Given the description of an element on the screen output the (x, y) to click on. 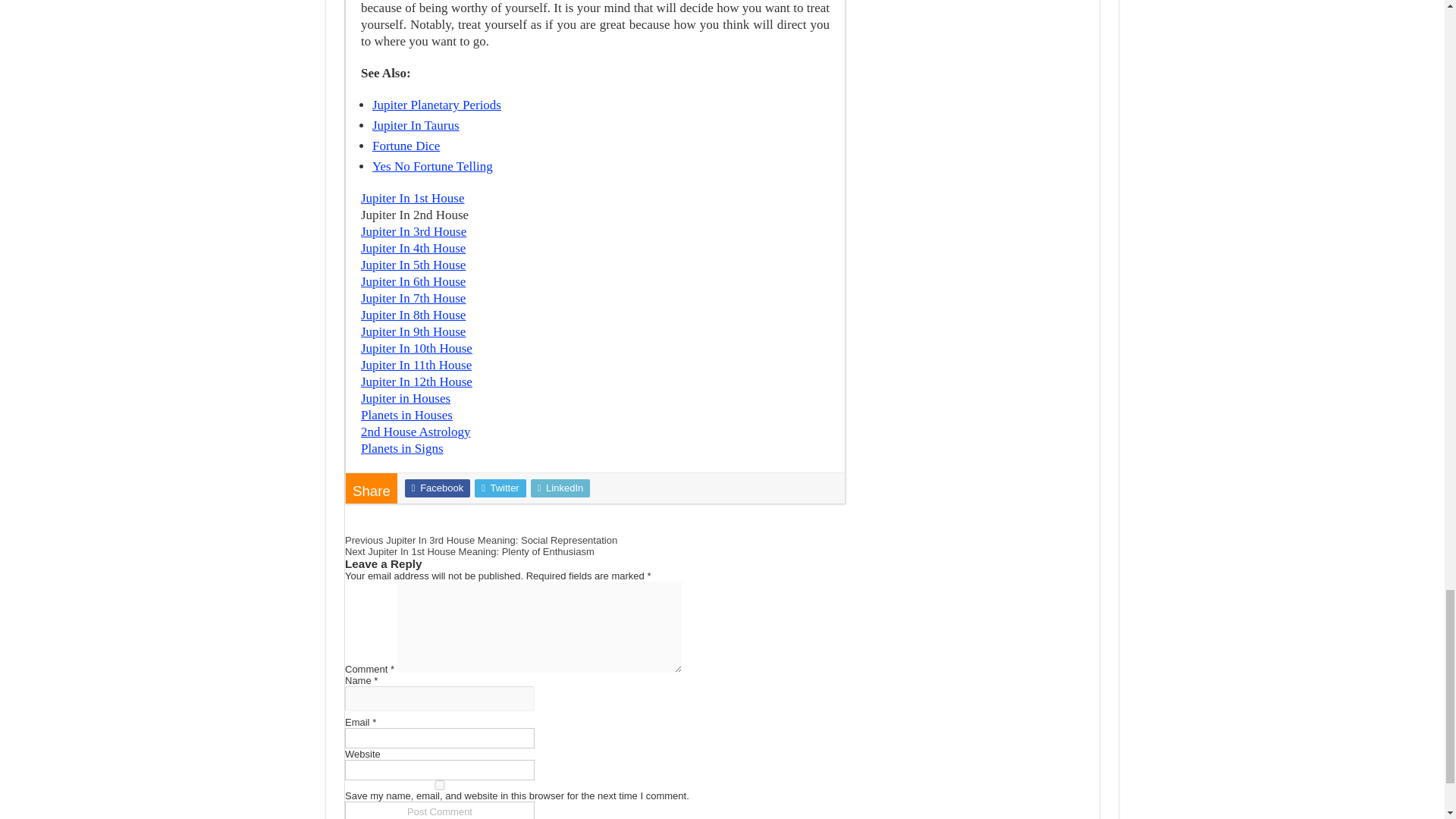
Jupiter Vimshottari Dasha (436, 104)
Post Comment (439, 810)
yes (439, 785)
